Given the description of an element on the screen output the (x, y) to click on. 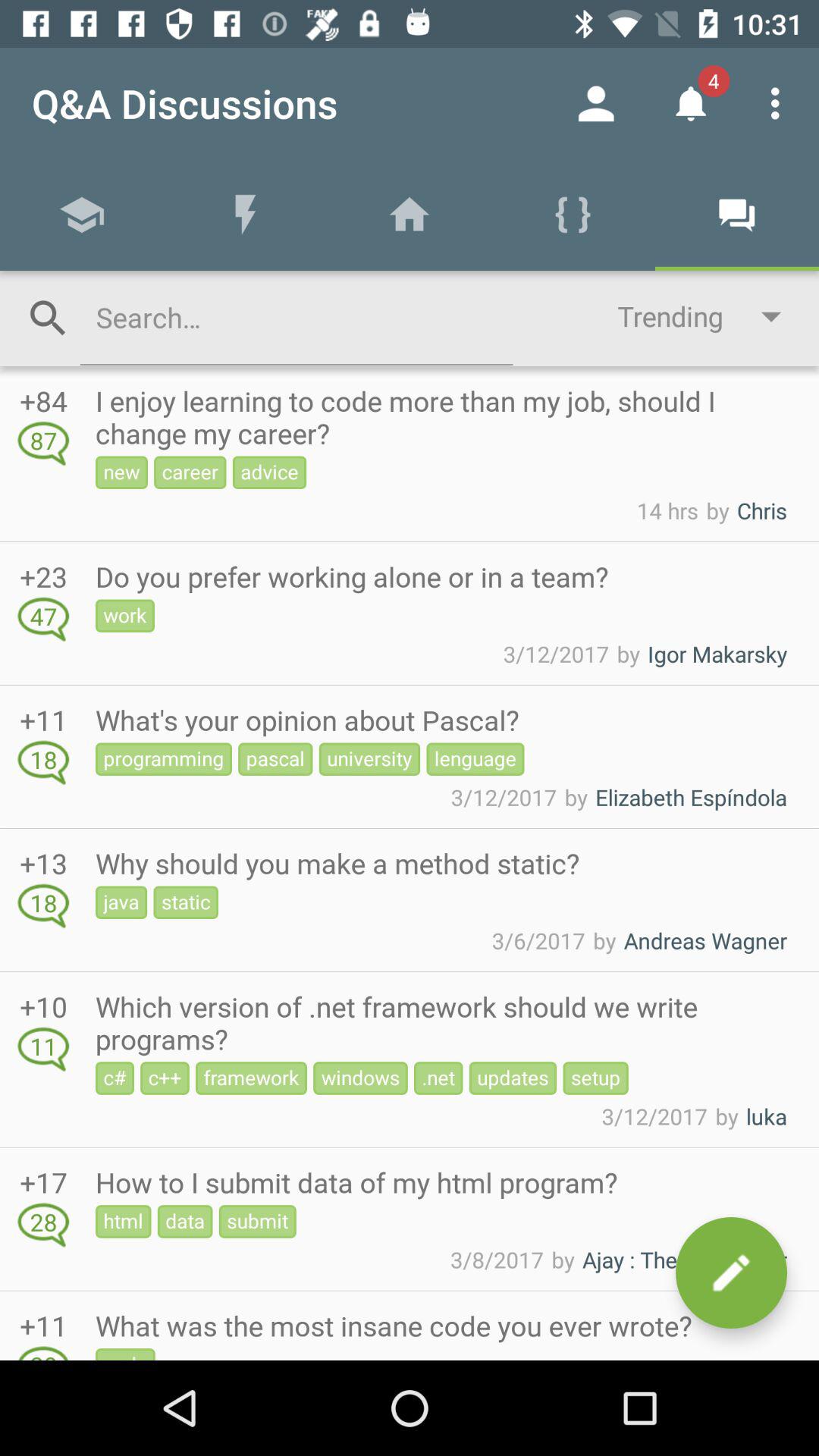
click on comment icon (731, 1273)
click on the search bar icon (48, 318)
